Given the description of an element on the screen output the (x, y) to click on. 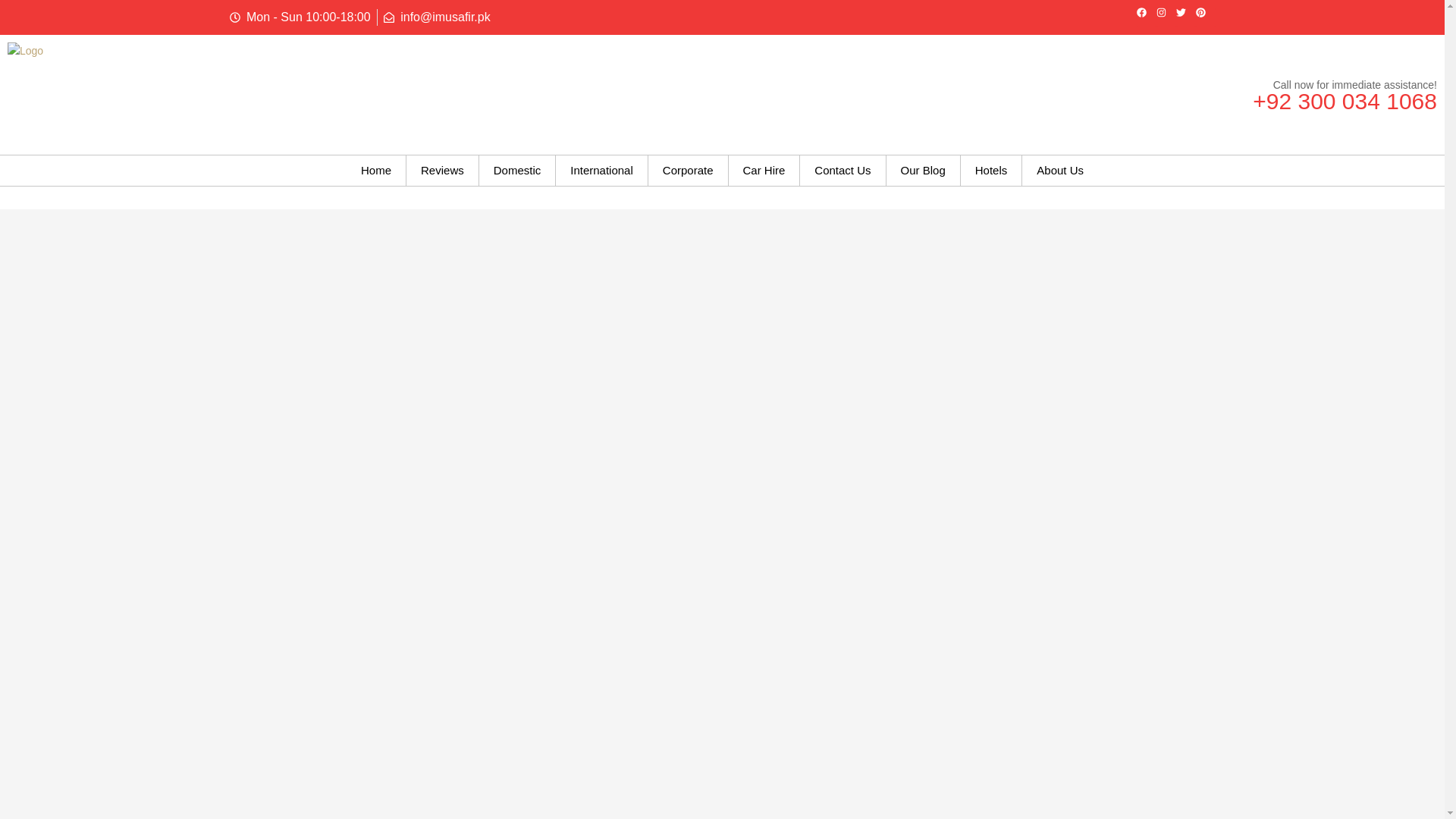
Corporate (687, 170)
Hotels (991, 170)
Domestic (517, 170)
Our Blog (922, 170)
Car Hire (763, 170)
Reviews (442, 170)
International (601, 170)
About Us (1059, 170)
Home (376, 170)
Contact Us (842, 170)
